Given the description of an element on the screen output the (x, y) to click on. 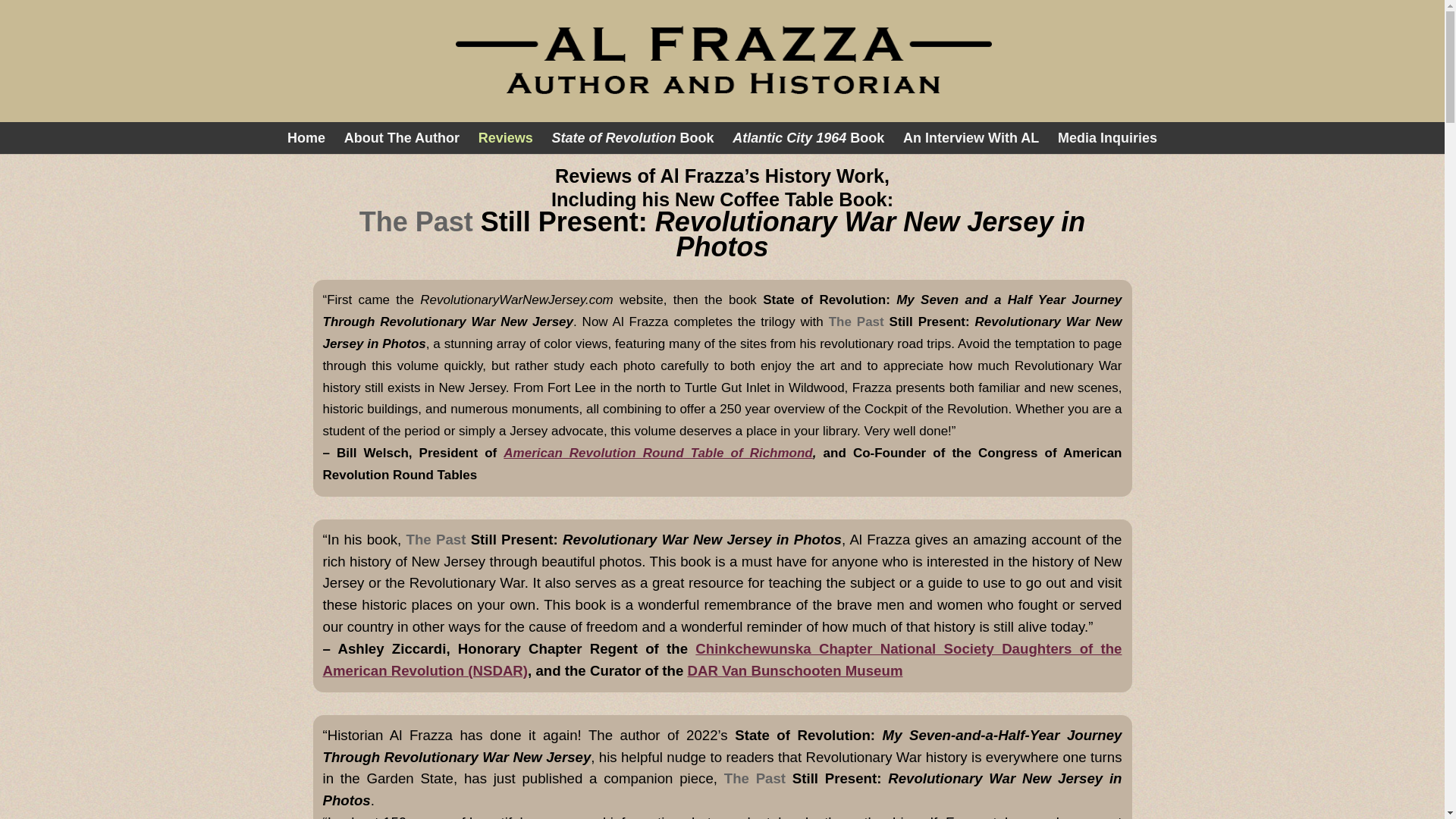
New Jersey Historian and Author Al Frazza (401, 137)
American Revolution Round Table of Richmond (657, 452)
State of Revolution Book by Al Frazza (632, 137)
Atlantic City 1964 Book (807, 137)
DAR Van Bunschooten Museum (794, 670)
Reviews of the work of New Jersey Historian Al Frazza (505, 137)
Home (305, 137)
An Interview With AL (970, 137)
Media Inquiries (1107, 137)
Media Inquiries (1107, 137)
State of Revolution Book (632, 137)
Atlantic City 1964 (807, 137)
About The Author (401, 137)
Al Frazza - New Jersey Historian and Author (723, 61)
Reviews (505, 137)
